Given the description of an element on the screen output the (x, y) to click on. 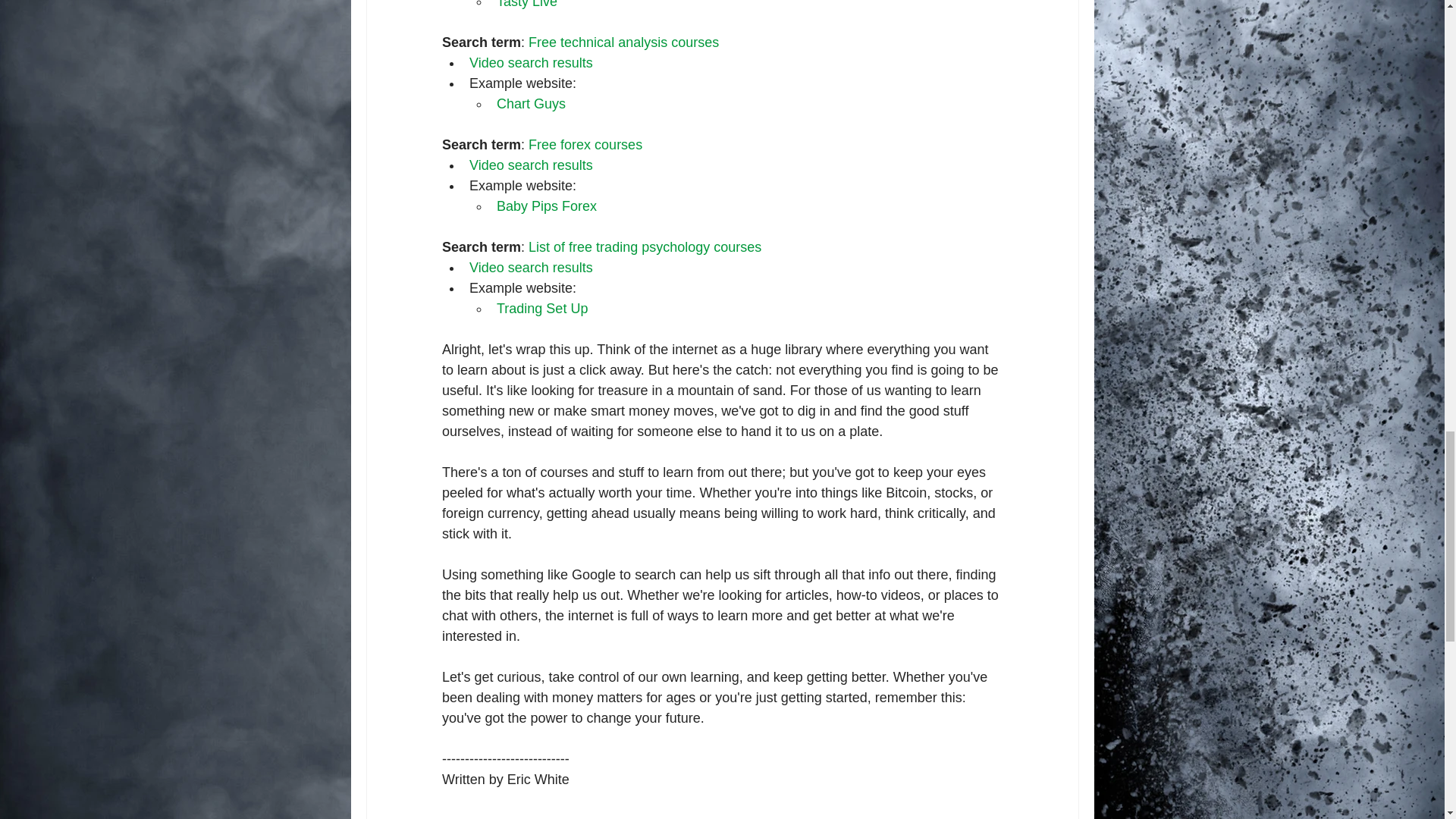
Video search results (530, 267)
Video search results (530, 165)
Free forex courses (585, 144)
Free technical analysis courses (623, 42)
Tasty Live (526, 4)
Trading Set Up (541, 308)
Chart Guys (530, 103)
Video search results (530, 62)
List of free trading psychology courses (644, 246)
Baby Pips Forex (545, 206)
